Given the description of an element on the screen output the (x, y) to click on. 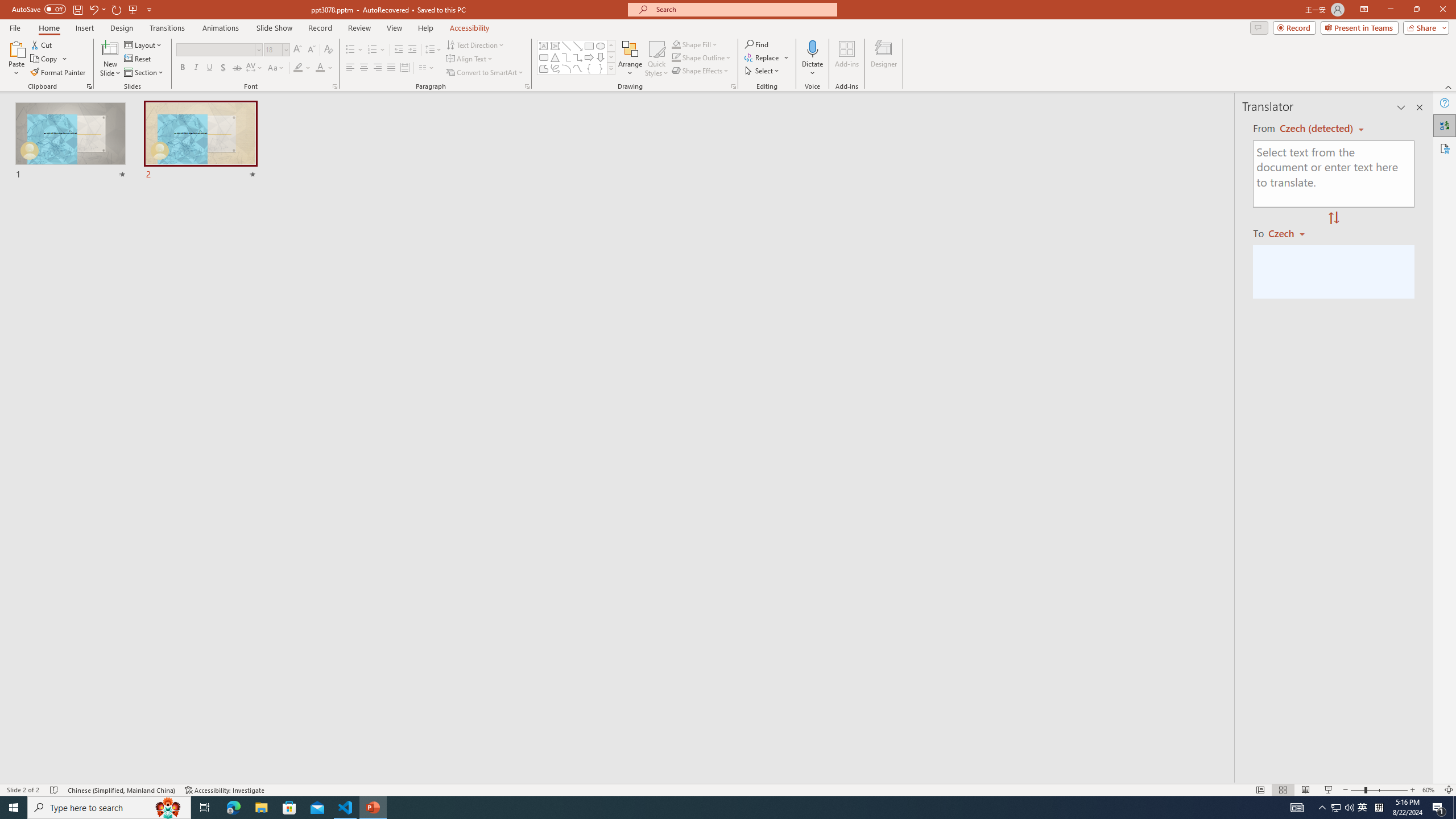
Shape Fill Dark Green, Accent 2 (675, 44)
